Given the description of an element on the screen output the (x, y) to click on. 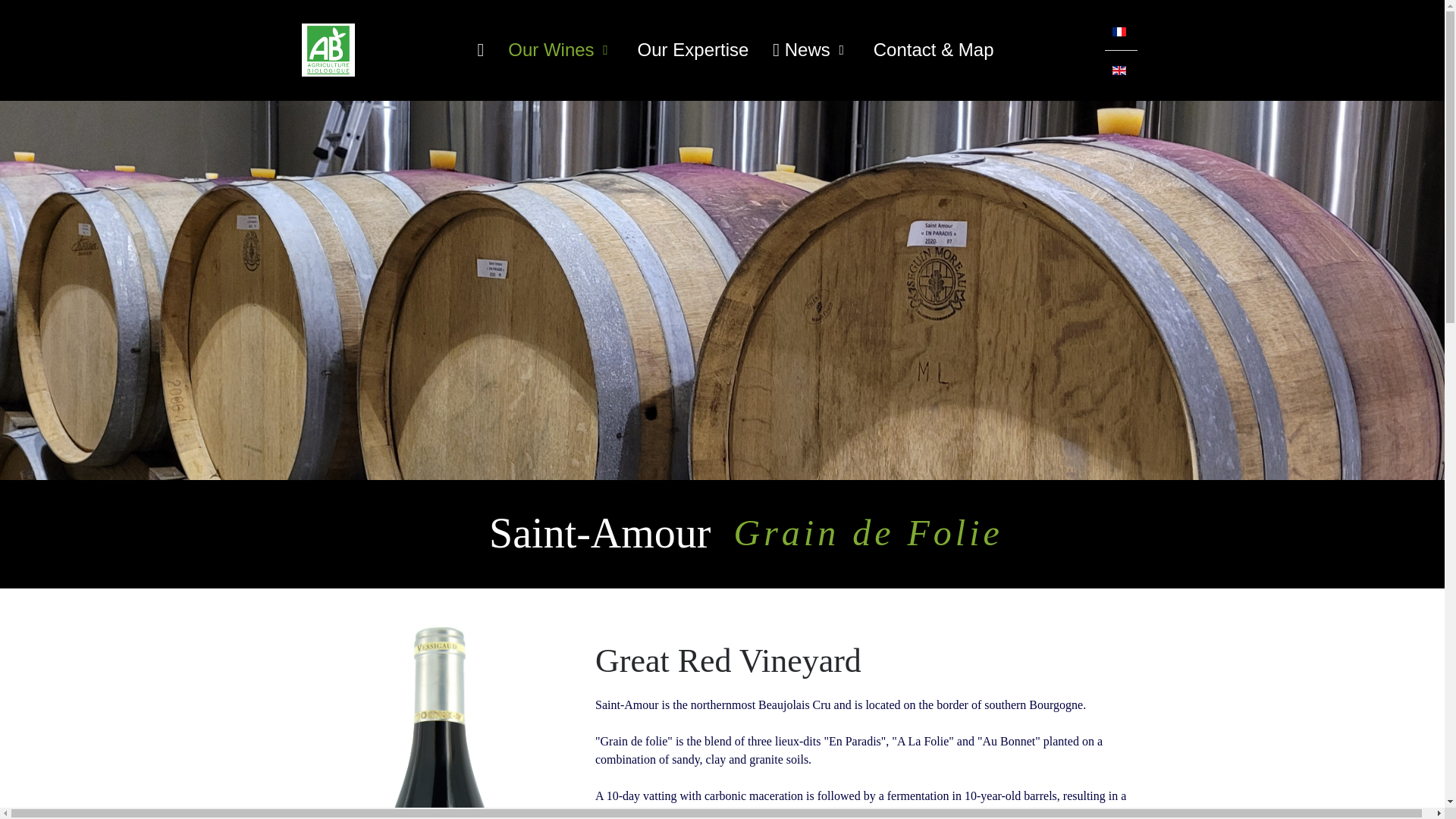
Our Wines (560, 50)
Our Wines (560, 50)
News (810, 50)
Our Expertise (693, 50)
